Given the description of an element on the screen output the (x, y) to click on. 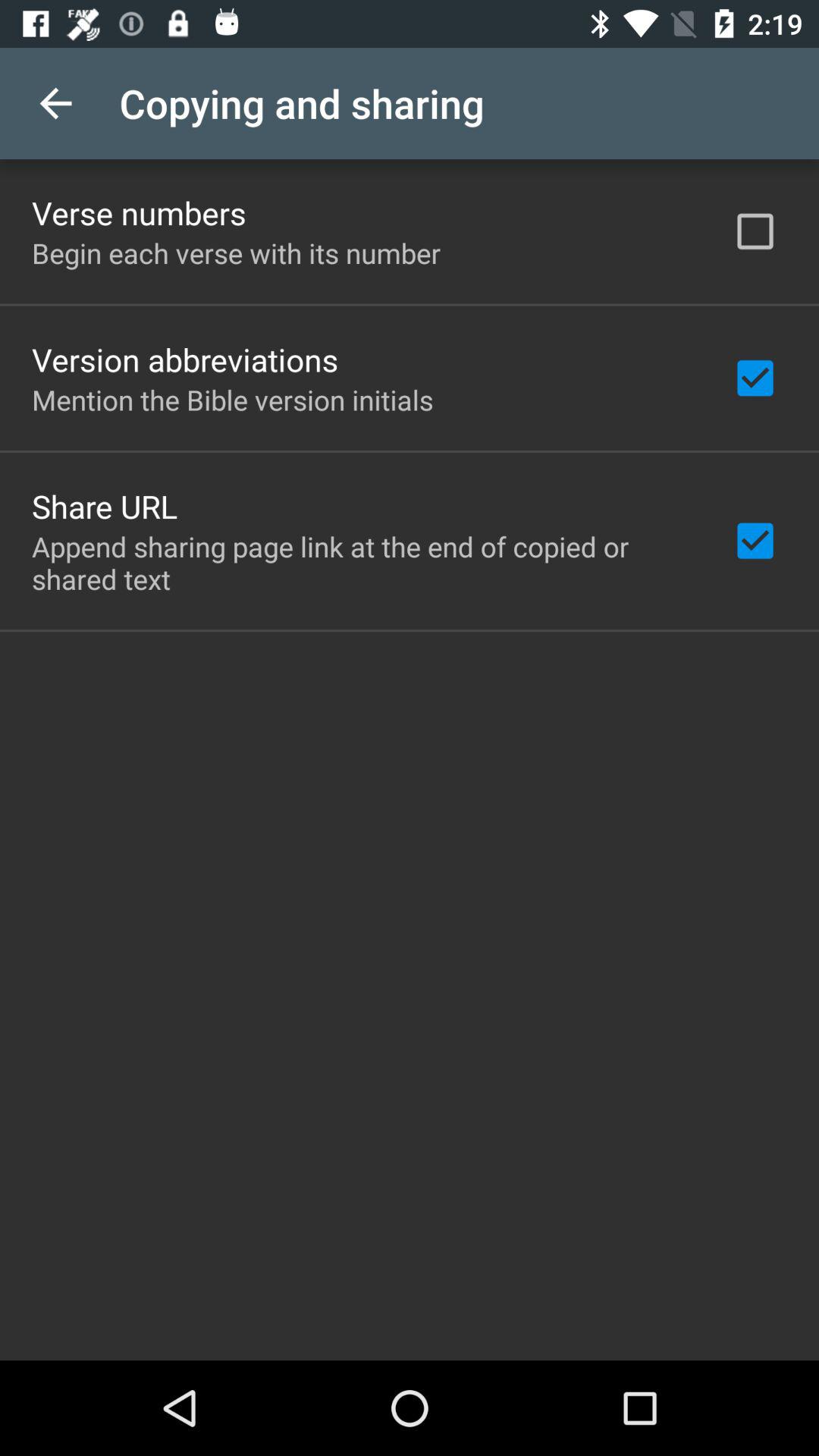
jump until append sharing page item (361, 562)
